Given the description of an element on the screen output the (x, y) to click on. 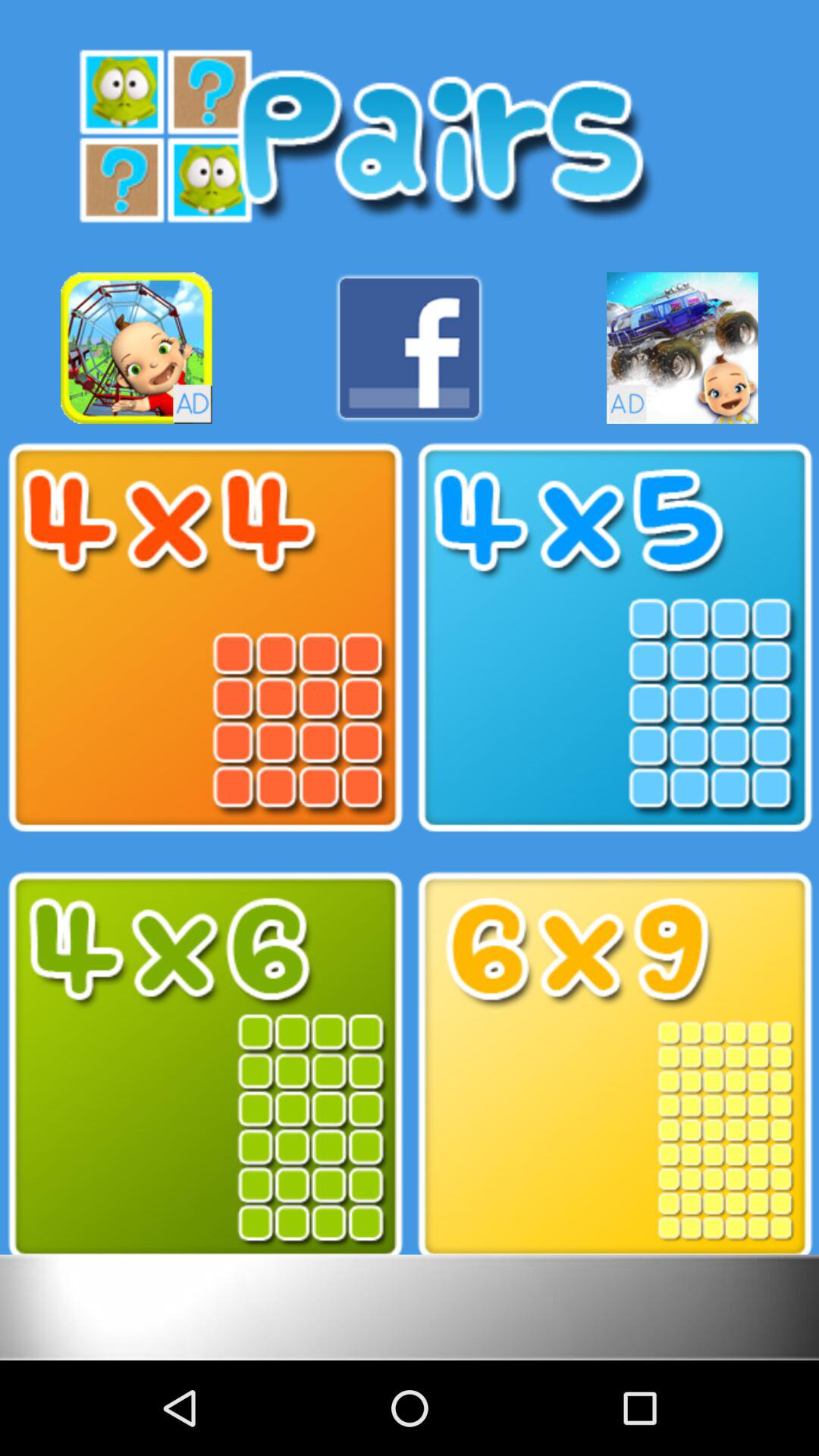
emoji (136, 347)
